Given the description of an element on the screen output the (x, y) to click on. 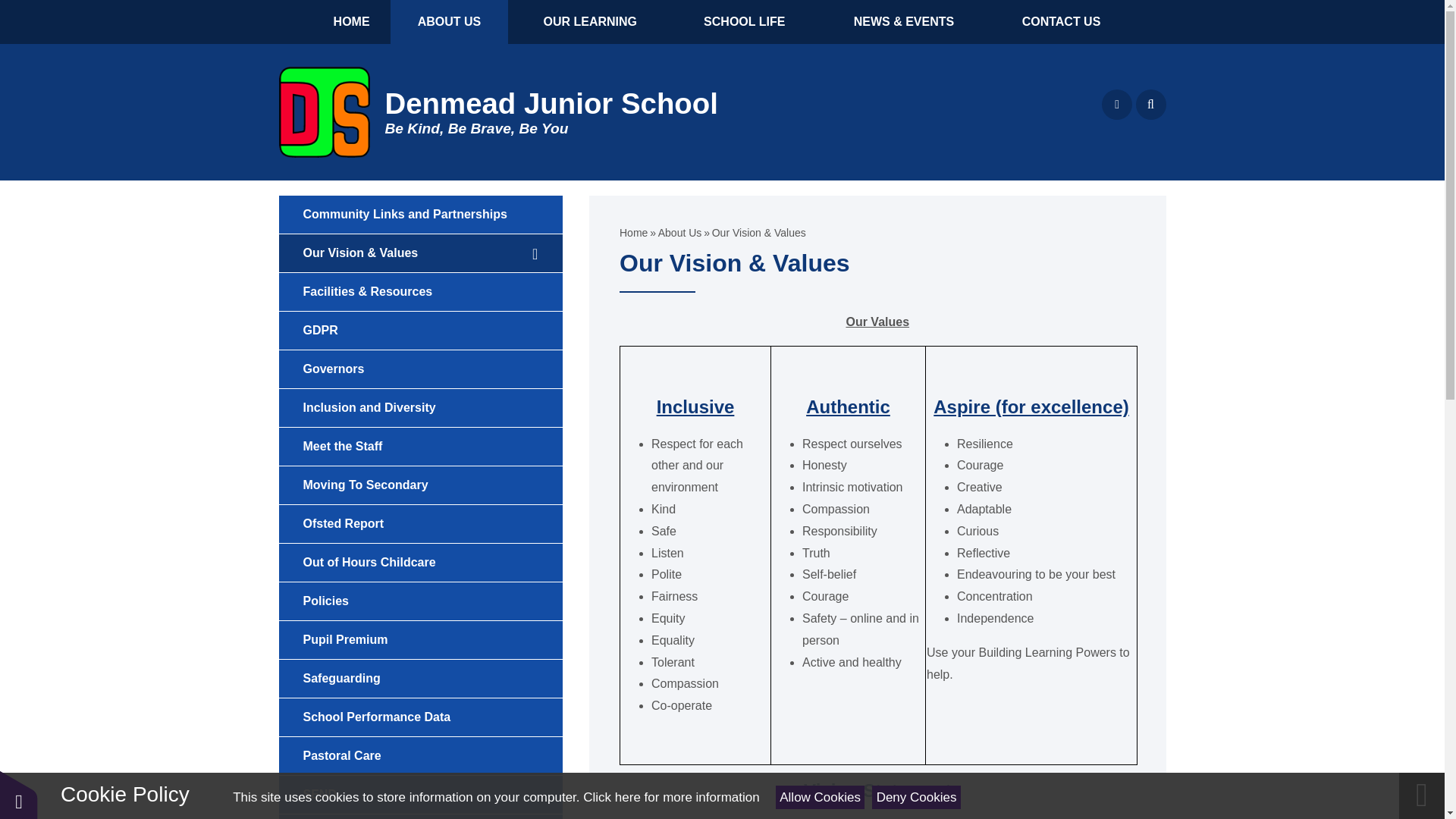
Facebook (1117, 104)
ABOUT US (449, 22)
Allow Cookies (820, 797)
Deny Cookies (915, 797)
HOME (351, 22)
See cookie policy (670, 797)
